Given the description of an element on the screen output the (x, y) to click on. 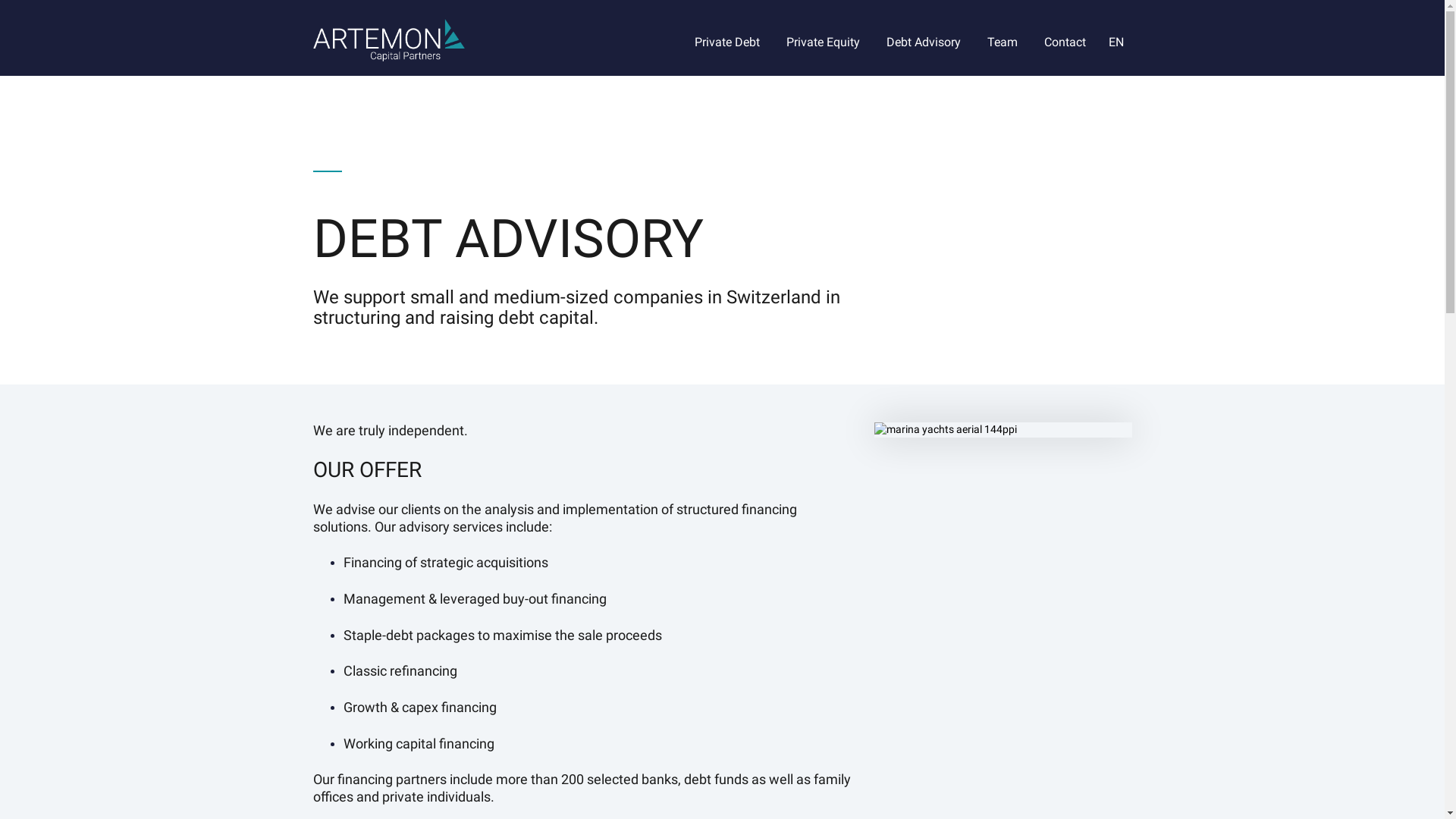
Private Equity Element type: text (822, 41)
Debt Advisory Element type: text (923, 41)
Private Debt Element type: text (726, 41)
EN Element type: text (1115, 45)
Contact Element type: text (1064, 41)
Team Element type: text (1002, 41)
